Given the description of an element on the screen output the (x, y) to click on. 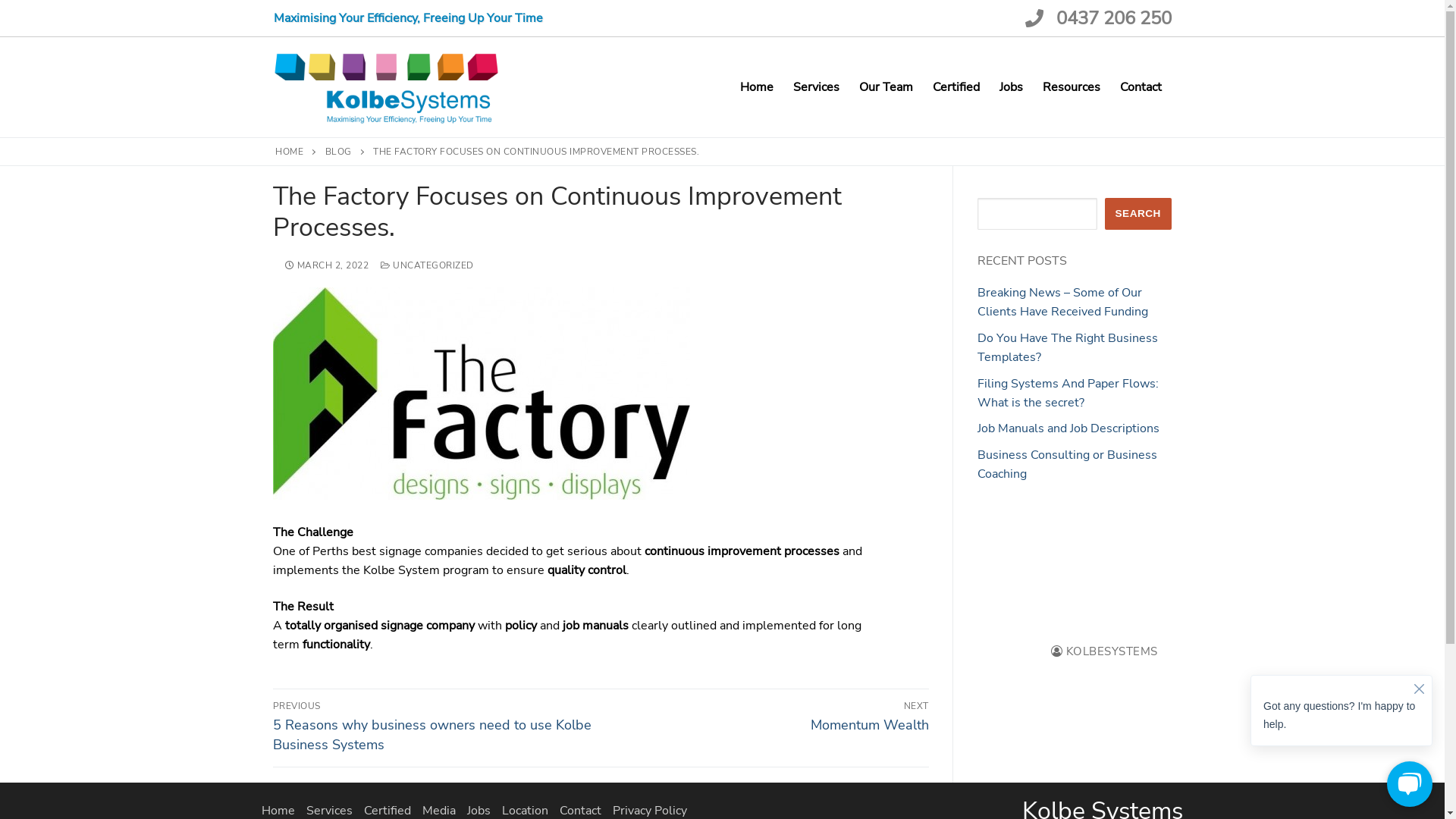
BLOG Element type: text (338, 151)
Job Manuals and Job Descriptions Element type: text (1067, 428)
Home Element type: text (755, 87)
Business Consulting or Business Coaching Element type: text (1066, 464)
0437 206 250 Element type: text (1093, 18)
Certified Element type: text (955, 87)
NEXT
Next post:
Momentum Wealth Element type: text (767, 717)
Filing Systems And Paper Flows: What is the secret? Element type: text (1066, 393)
Our Team Element type: text (885, 87)
HOME Element type: text (289, 151)
MARCH 2, 2022 Element type: text (327, 265)
Services Element type: text (815, 87)
KOLBESYSTEMS Element type: text (1104, 650)
SEARCH Element type: text (1137, 213)
Contact Element type: text (1140, 87)
Resources Element type: text (1071, 87)
Do You Have The Right Business Templates? Element type: text (1066, 347)
UNCATEGORIZED Element type: text (426, 265)
Jobs Element type: text (1010, 87)
